Given the description of an element on the screen output the (x, y) to click on. 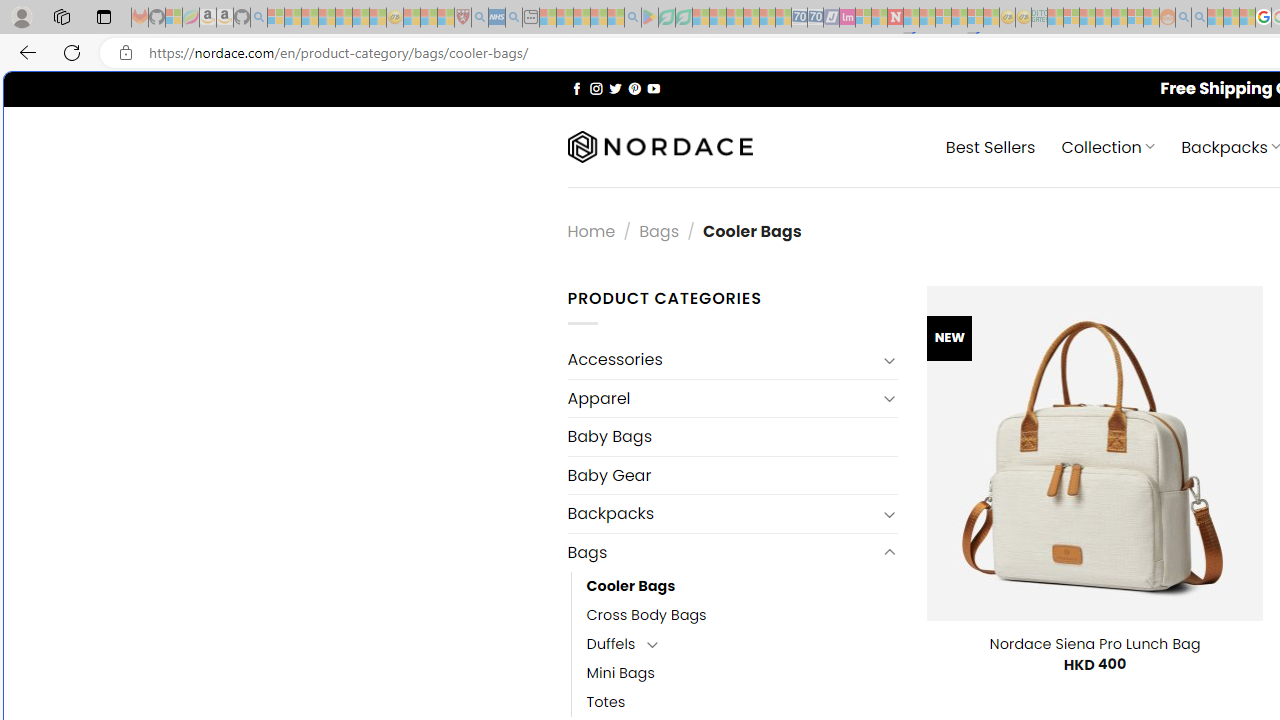
14 Common Myths Debunked By Scientific Facts - Sleeping (927, 17)
Nordace (659, 147)
Bags (721, 552)
Microsoft-Report a Concern to Bing - Sleeping (173, 17)
Pets - MSN - Sleeping (598, 17)
Baby Gear (732, 475)
